Given the description of an element on the screen output the (x, y) to click on. 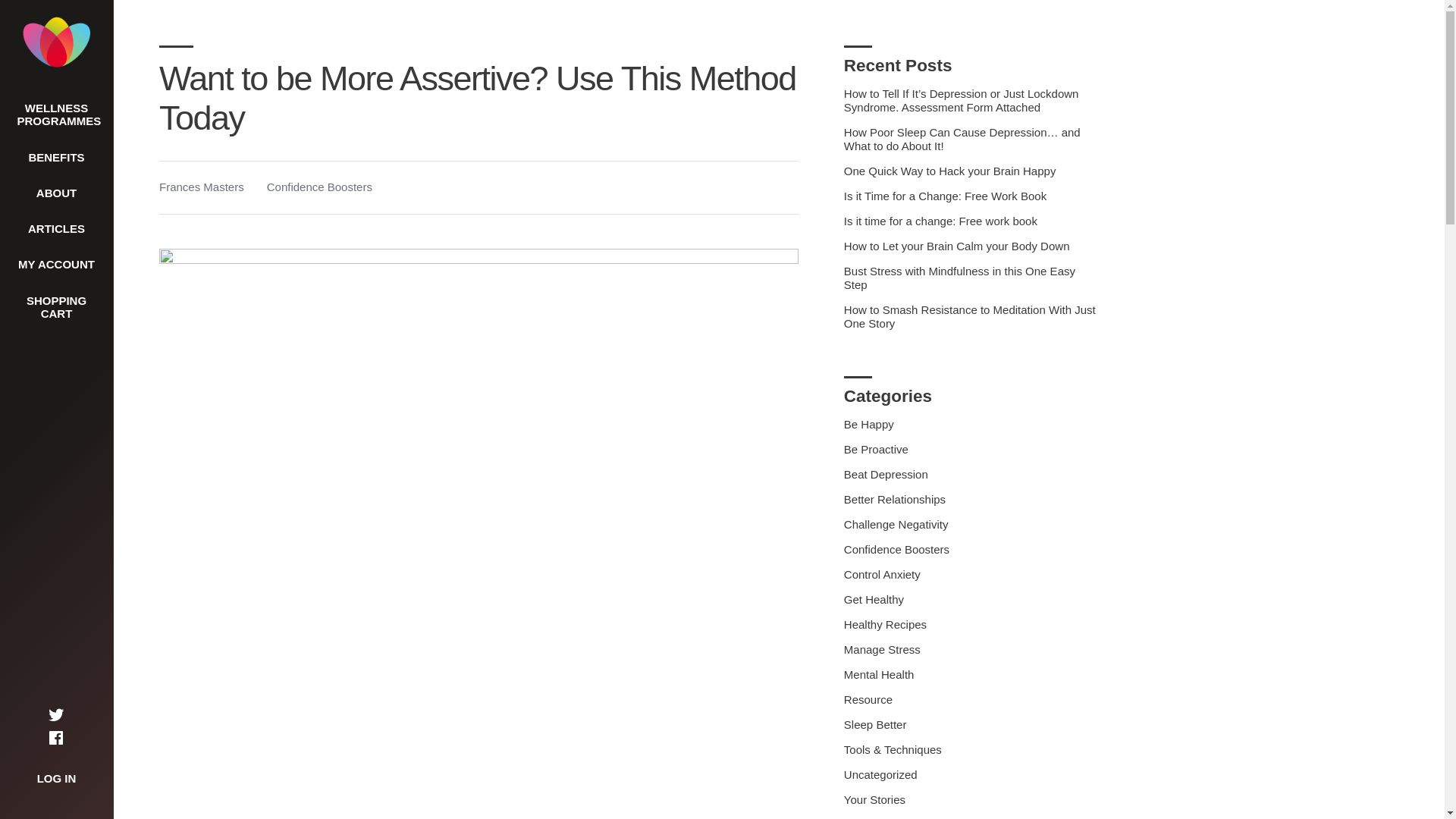
Is it Time for a Change: Free Work Book (945, 195)
Healthy Recipes (885, 624)
Get Healthy (874, 599)
How to Smash Resistance to Meditation With Just One Story (970, 316)
Be Proactive (876, 449)
Confidence Boosters (896, 549)
Frances Masters (201, 186)
Be Happy (868, 423)
Control Anxiety (882, 574)
Manage Stress (882, 649)
Challenge Negativity (896, 523)
One Quick Way to Hack your Brain Happy (950, 170)
Is it time for a change: Free work book (940, 220)
Bust Stress with Mindfulness in this One Easy Step (959, 277)
ARTICLES (56, 228)
